Given the description of an element on the screen output the (x, y) to click on. 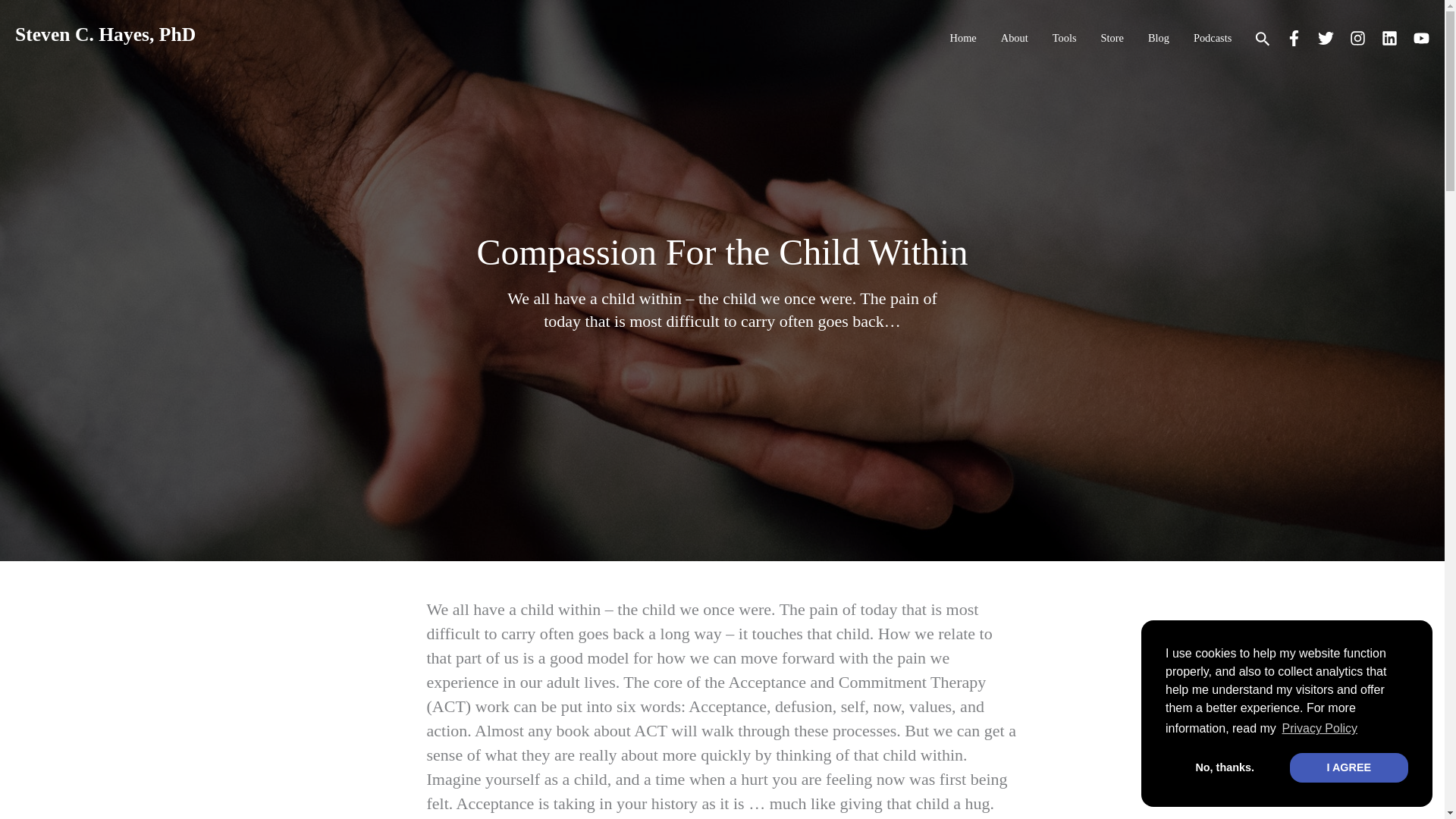
Store (1112, 38)
No, thanks. (1225, 767)
About (1014, 38)
Home (963, 38)
Podcasts (1212, 38)
Blog (1158, 38)
I AGREE (1348, 767)
Privacy Policy (1319, 728)
Steven C. Hayes, PhD (104, 34)
Tools (1064, 38)
